Given the description of an element on the screen output the (x, y) to click on. 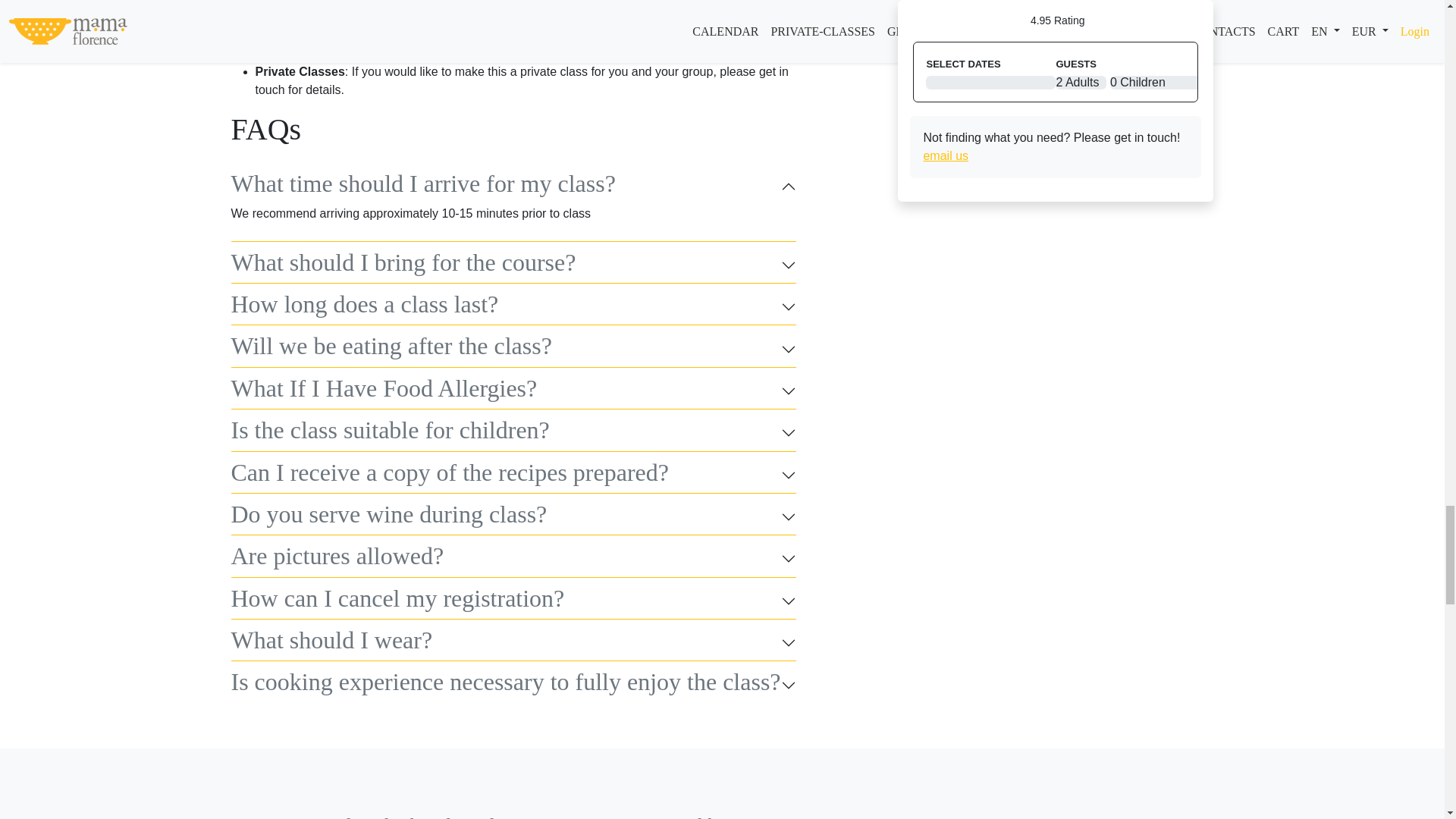
What should I bring for the course? (513, 265)
Is cooking experience necessary to fully enjoy the class? (513, 684)
What should I wear? (513, 642)
Are pictures allowed? (513, 558)
What If I Have Food Allergies? (513, 390)
How long does a class last? (513, 306)
How can I cancel my registration? (513, 601)
Can I receive a copy of the recipes prepared? (513, 475)
What time should I arrive for my class? (513, 185)
Is the class suitable for children? (513, 432)
